Given the description of an element on the screen output the (x, y) to click on. 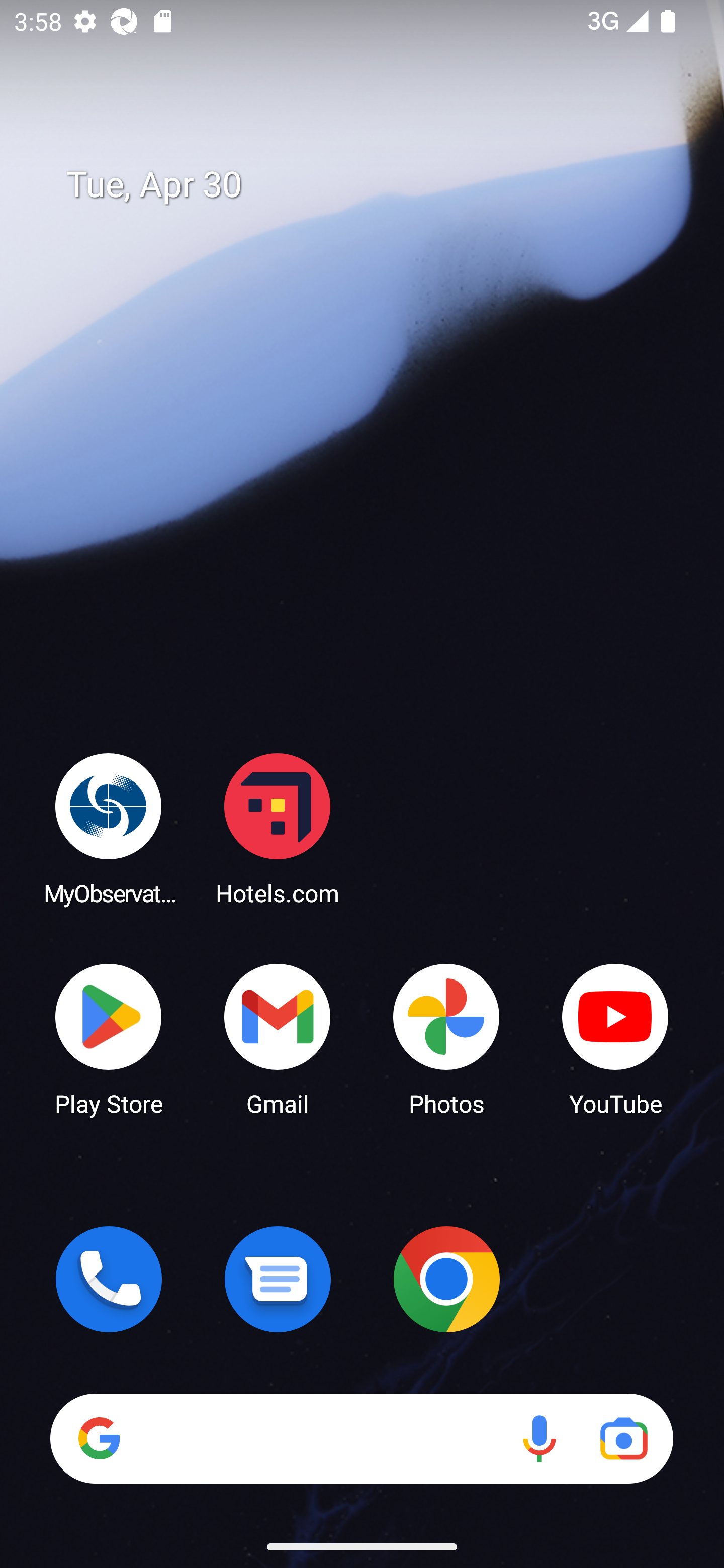
Tue, Apr 30 (375, 184)
MyObservatory (108, 828)
Hotels.com (277, 828)
Play Store (108, 1038)
Gmail (277, 1038)
Photos (445, 1038)
YouTube (615, 1038)
Phone (108, 1279)
Messages (277, 1279)
Chrome (446, 1279)
Search Voice search Google Lens (361, 1438)
Voice search (539, 1438)
Google Lens (623, 1438)
